Given the description of an element on the screen output the (x, y) to click on. 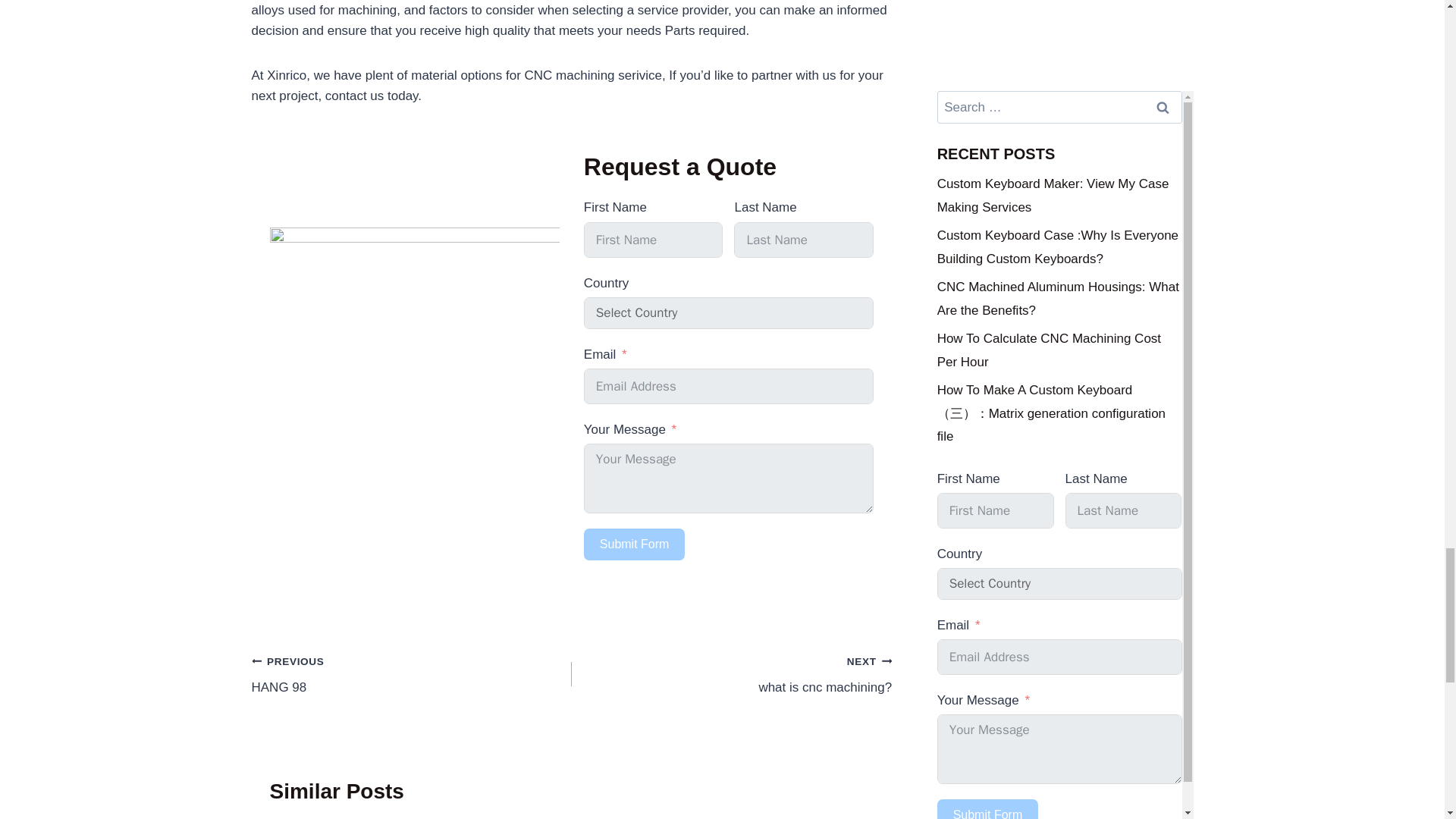
Submit Form (731, 674)
